Given the description of an element on the screen output the (x, y) to click on. 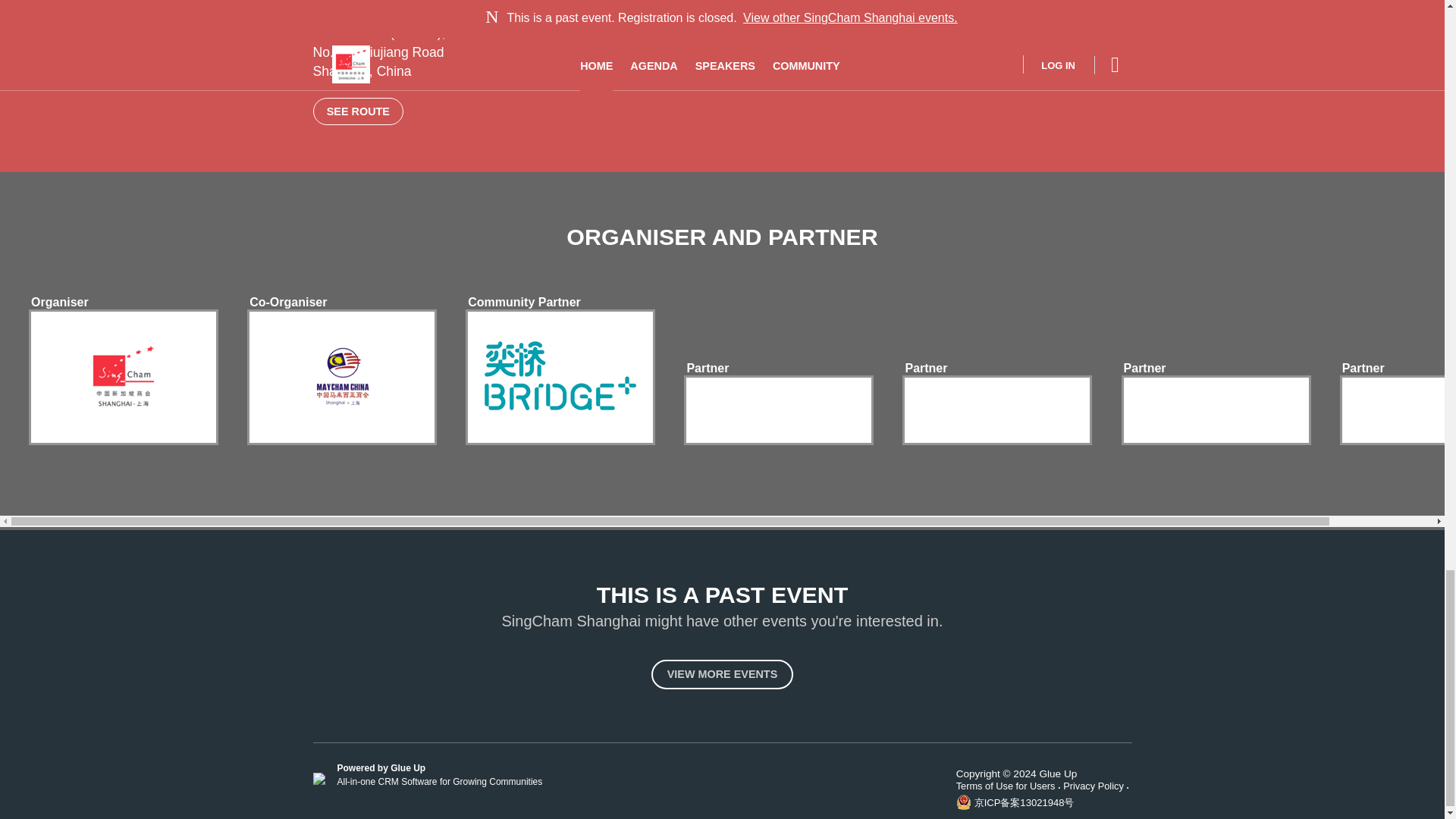
Partner (1363, 368)
Co-Organiser (287, 302)
Partner (925, 368)
SEE ROUTE (358, 111)
Partner (1145, 368)
Privacy Policy (1096, 785)
VIEW MORE EVENTS (721, 674)
Partner (707, 368)
Community Partner (523, 302)
Terms of Use for Users (1010, 785)
Organiser (59, 302)
